Given the description of an element on the screen output the (x, y) to click on. 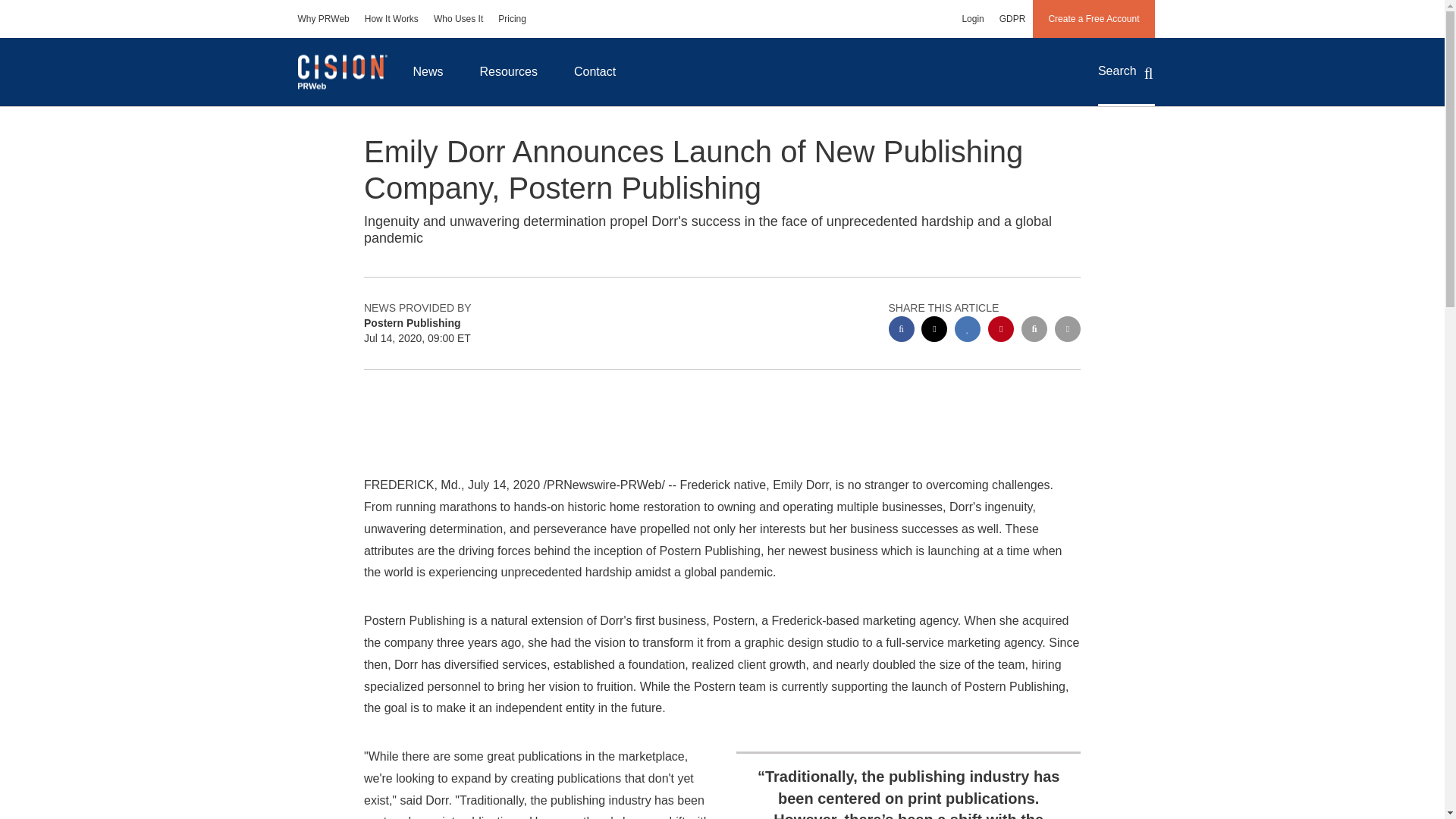
Pricing (512, 18)
Create a Free Account (1093, 18)
Who Uses It (458, 18)
Resources (508, 71)
GDPR (1012, 18)
News (427, 71)
Why PRWeb (322, 18)
Contact (594, 71)
Login (972, 18)
How It Works (391, 18)
